Given the description of an element on the screen output the (x, y) to click on. 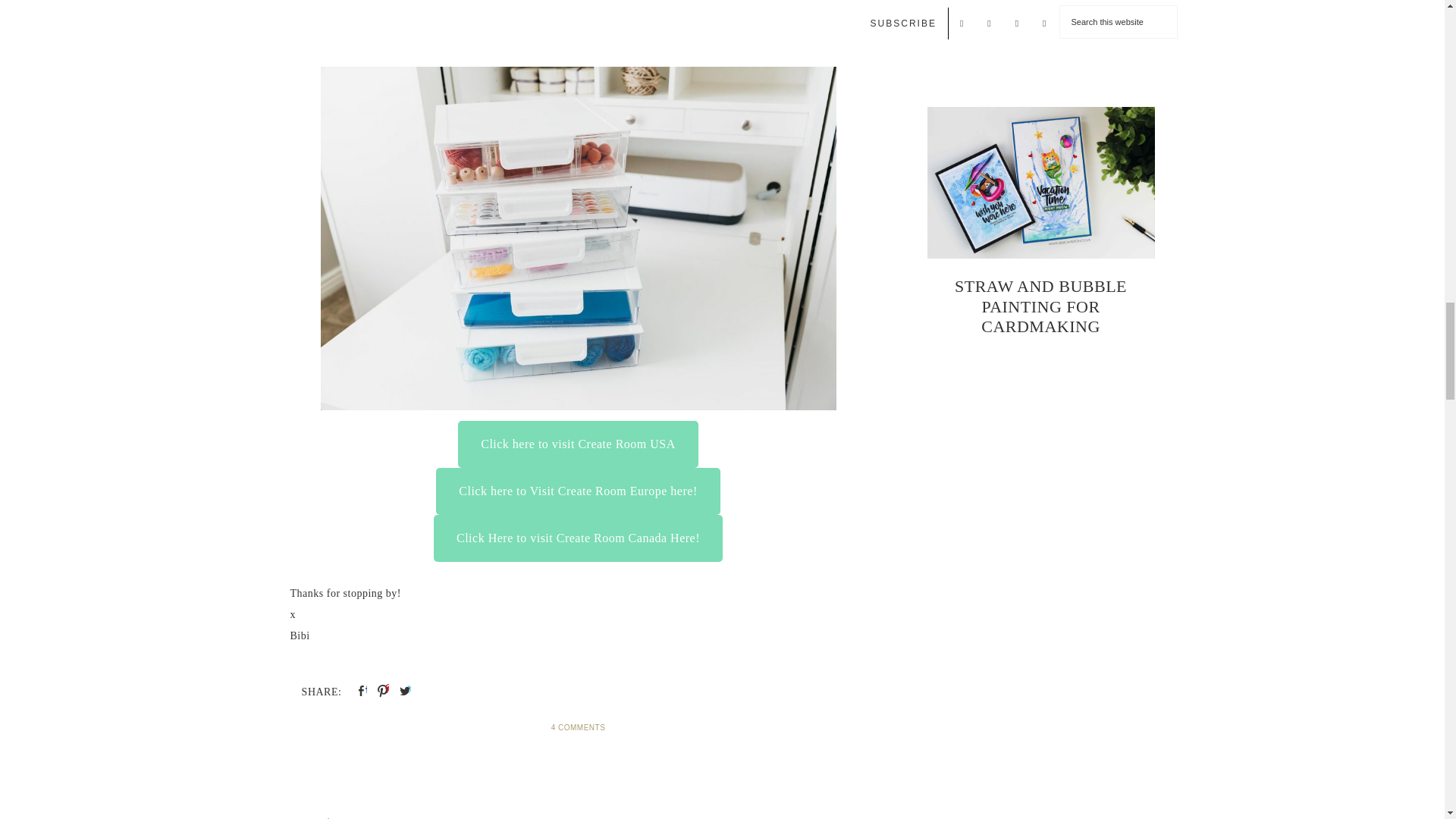
Click here to visit Create Room USA (578, 443)
4 COMMENTS (578, 727)
Click Here to visit Create Room Canada Here! (577, 538)
Click here to Visit Create Room Europe here! (577, 491)
